Given the description of an element on the screen output the (x, y) to click on. 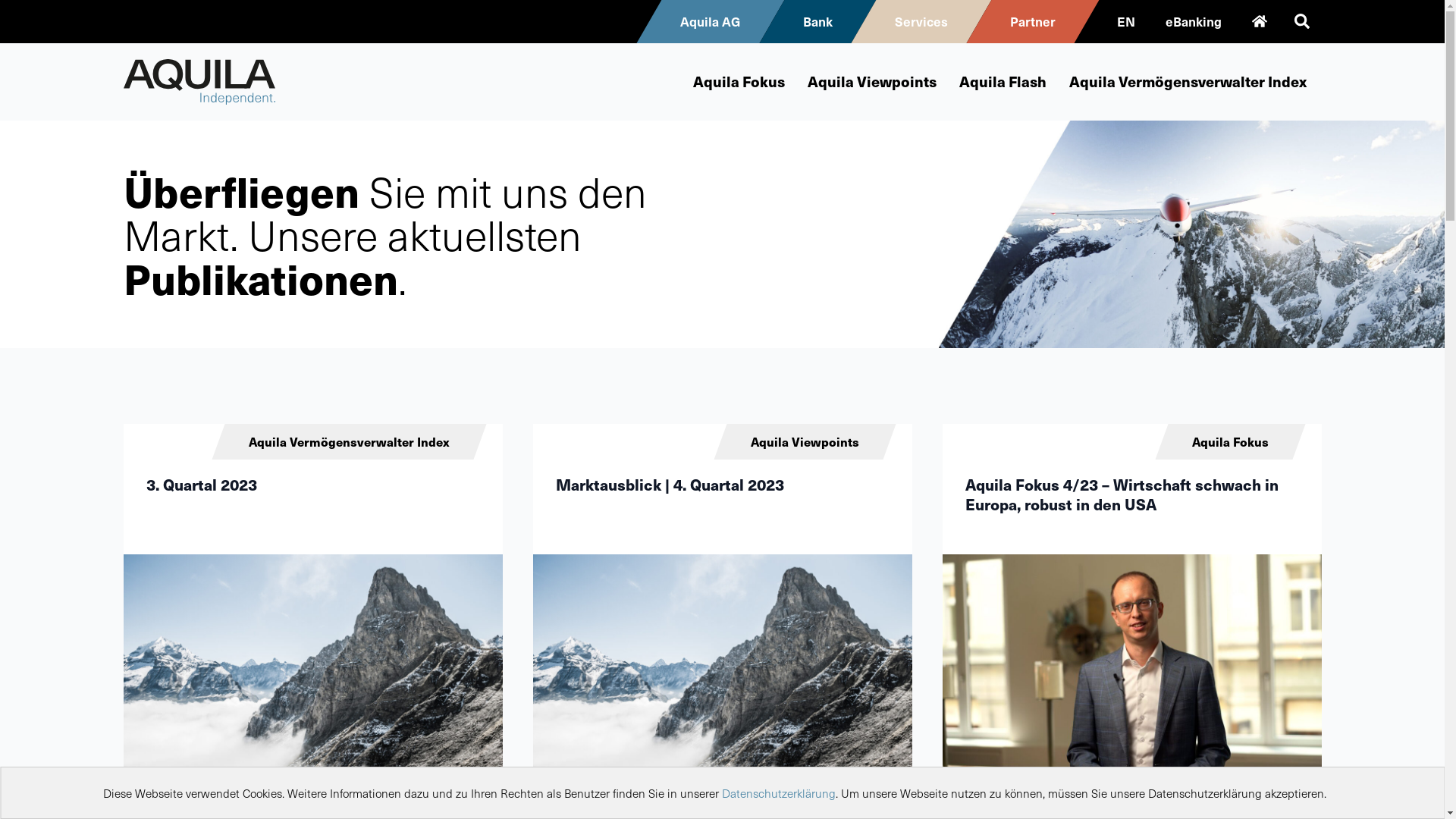
eBanking Element type: text (1192, 21)
Partner Element type: text (1031, 21)
Aquila Viewpoints Element type: text (870, 81)
EN Element type: text (1125, 21)
Aquila Fokus Element type: text (738, 81)
Services Element type: text (920, 21)
Aquila Flash Element type: text (1001, 81)
Bank Element type: text (817, 21)
Aquila AG Element type: text (710, 21)
